Given the description of an element on the screen output the (x, y) to click on. 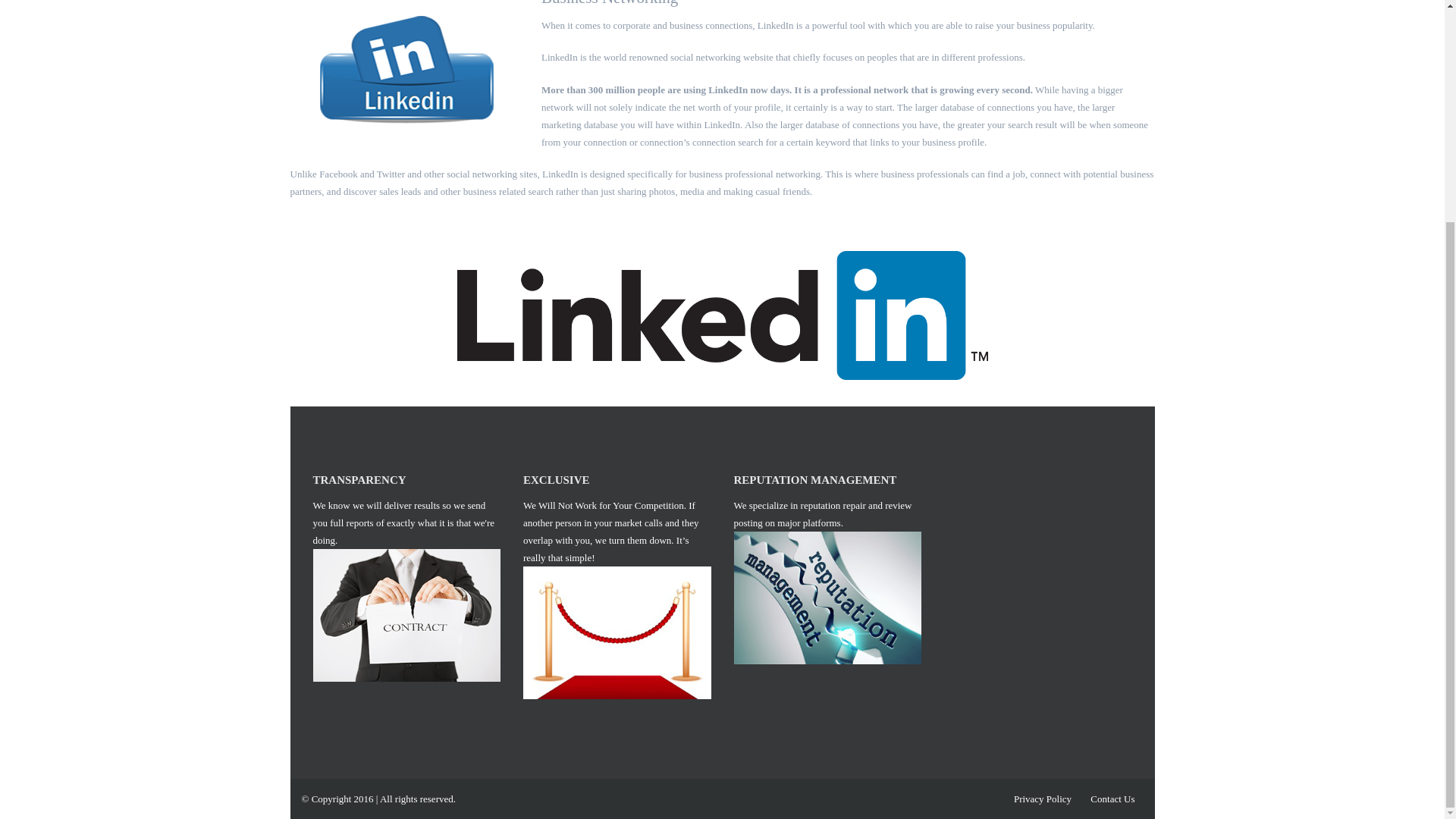
Contact Us (1112, 797)
Privacy Policy (1042, 797)
